Given the description of an element on the screen output the (x, y) to click on. 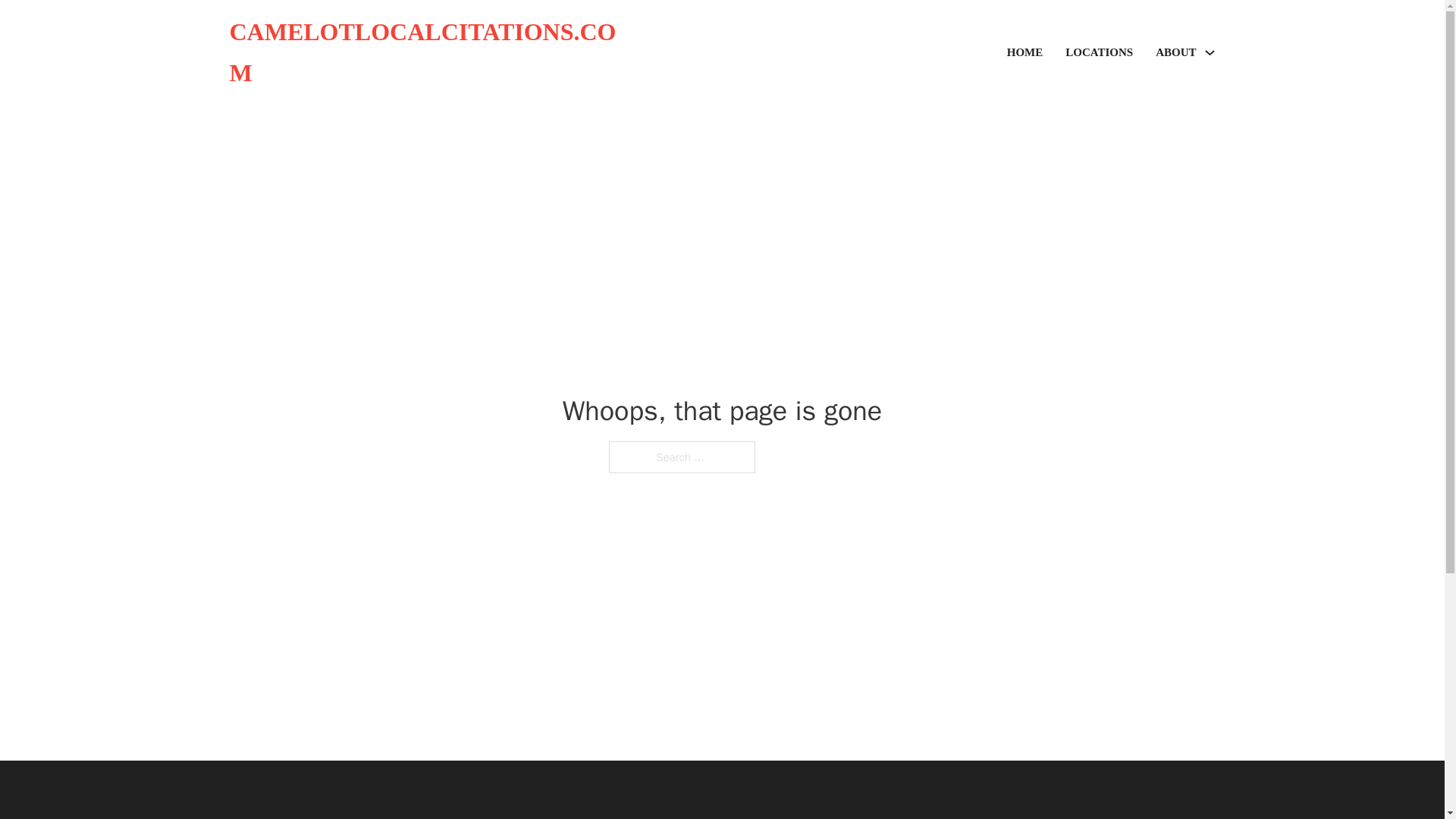
LOCATIONS (1098, 53)
CAMELOTLOCALCITATIONS.COM (425, 52)
HOME (1025, 53)
